Given the description of an element on the screen output the (x, y) to click on. 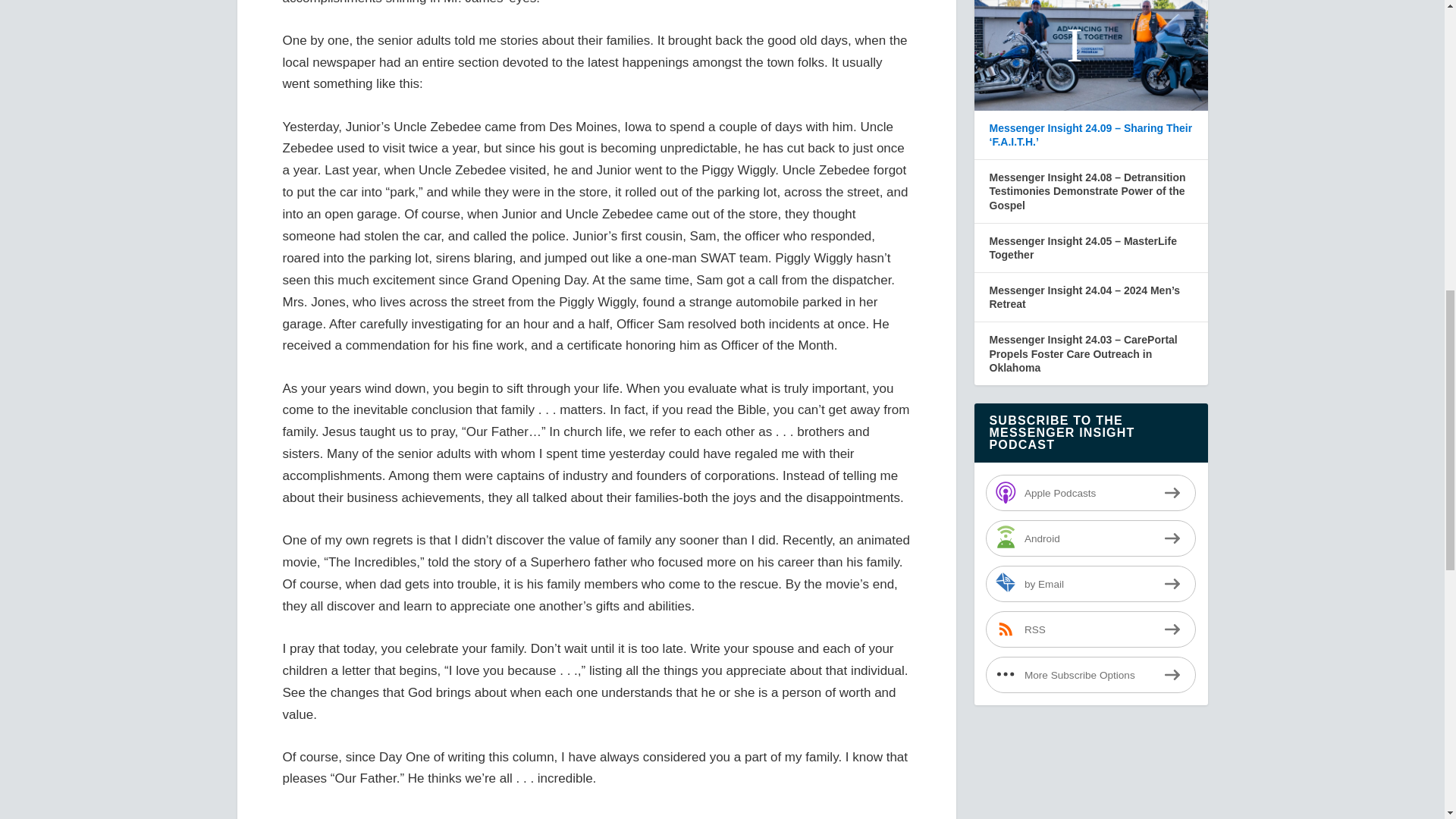
More Subscribe Options (1090, 674)
Subscribe via RSS (1090, 628)
Subscribe on Apple Podcasts (1090, 493)
Subscribe by Email (1090, 583)
Subscribe on Android (1090, 538)
